Given the description of an element on the screen output the (x, y) to click on. 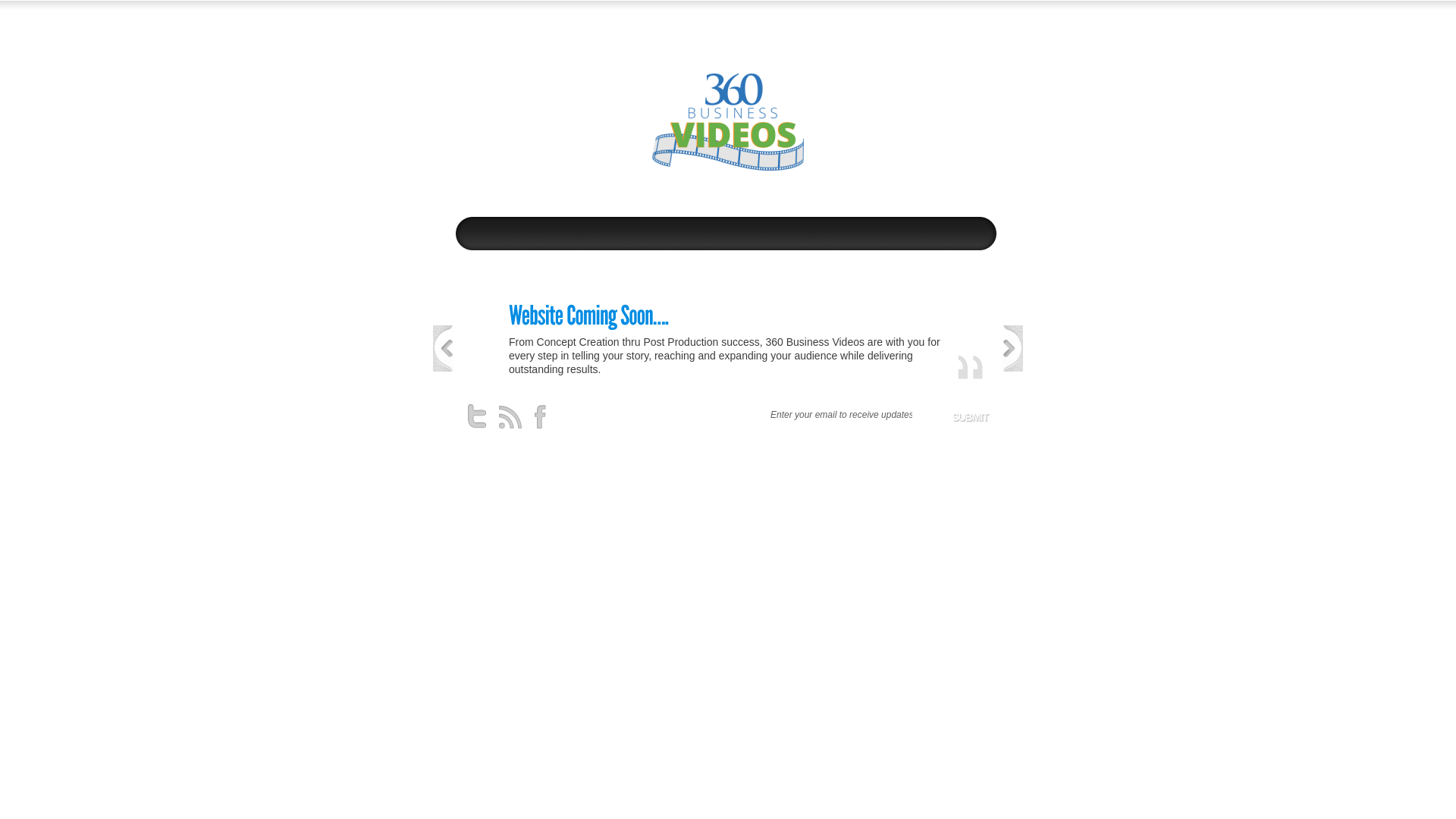
Previous Element type: text (443, 348)
Next Element type: text (1012, 348)
Submit Element type: text (969, 417)
